Given the description of an element on the screen output the (x, y) to click on. 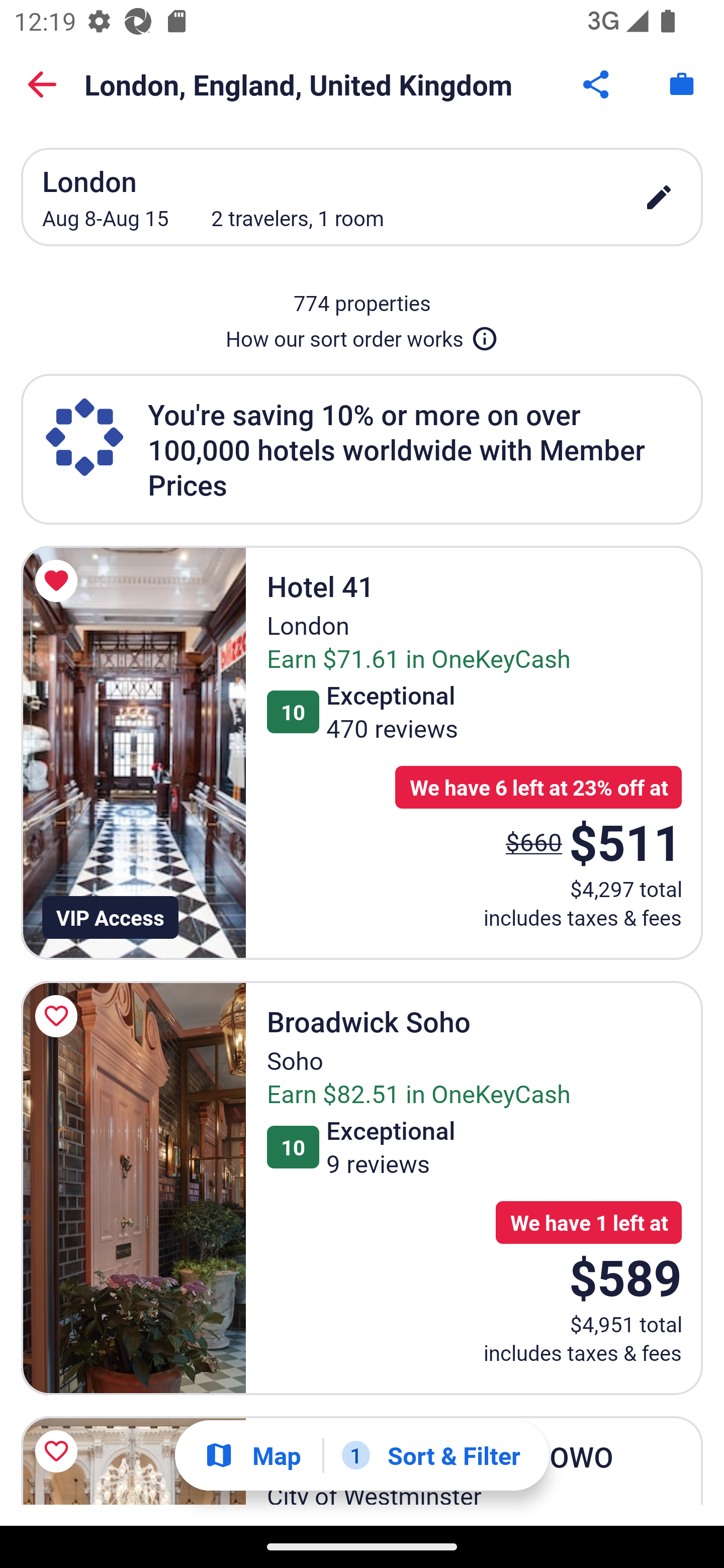
Back (42, 84)
Share Button (597, 84)
Trips. Button (681, 84)
London Aug 8-Aug 15 2 travelers, 1 room edit (361, 196)
How our sort order works (361, 334)
Remove Hotel 41 from a trip (59, 580)
Hotel 41 (133, 752)
$660 The price was $660 (533, 841)
Save Broadwick Soho to a trip (59, 1015)
Broadwick Soho (133, 1188)
Save Raffles London at The OWO to a trip (59, 1451)
1 Sort & Filter 1 Filter applied. Filters Button (430, 1455)
Show map Map Show map Button (252, 1455)
